Given the description of an element on the screen output the (x, y) to click on. 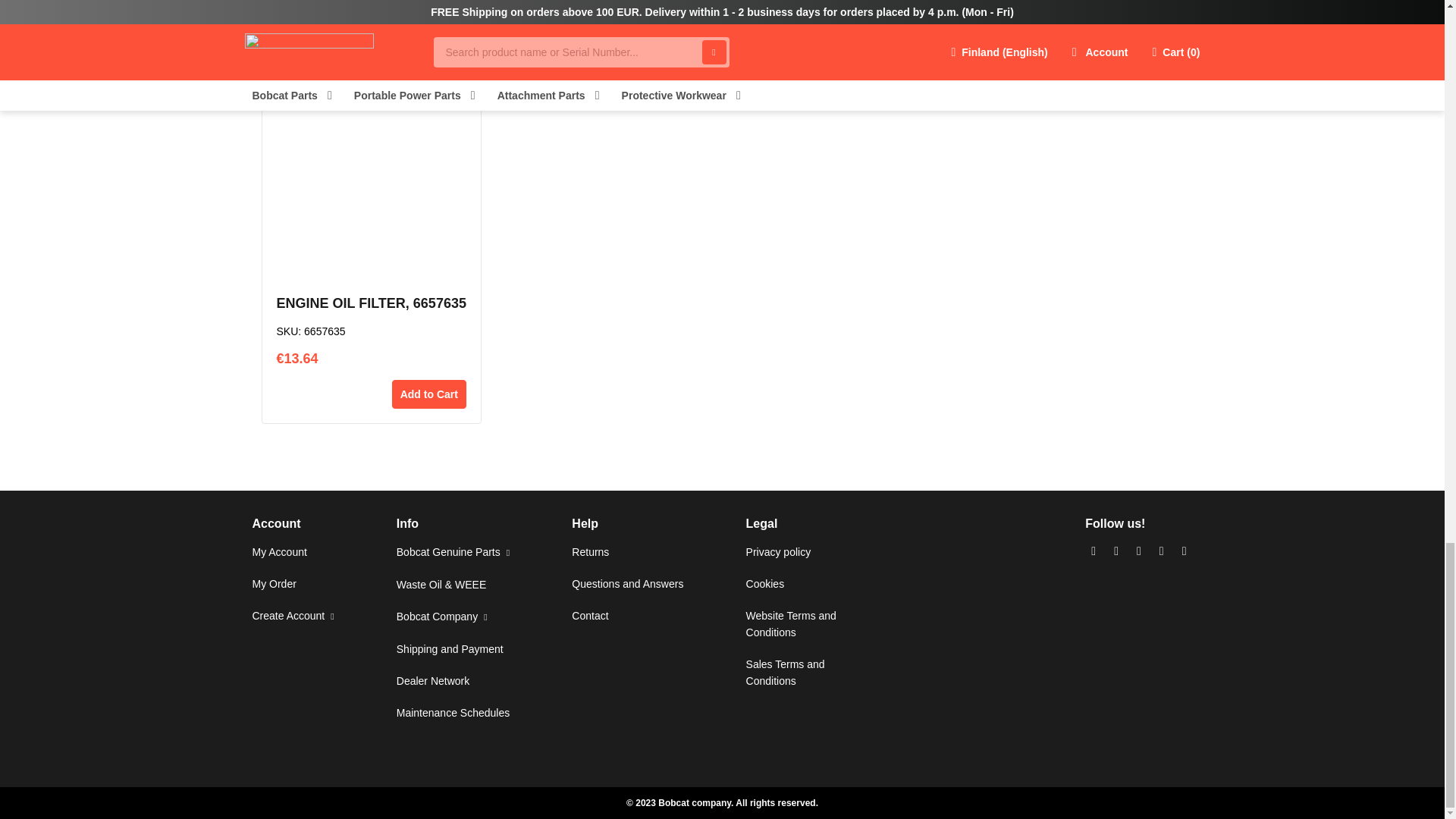
Privacy policy (777, 551)
Sales Terms and Conditions (785, 672)
ENGINE OIL FILTER, 6657635 (370, 303)
Add to Cart (753, 23)
Add to Cart (428, 394)
Add to Cart (1101, 9)
Website Terms and Conditions (790, 623)
